Given the description of an element on the screen output the (x, y) to click on. 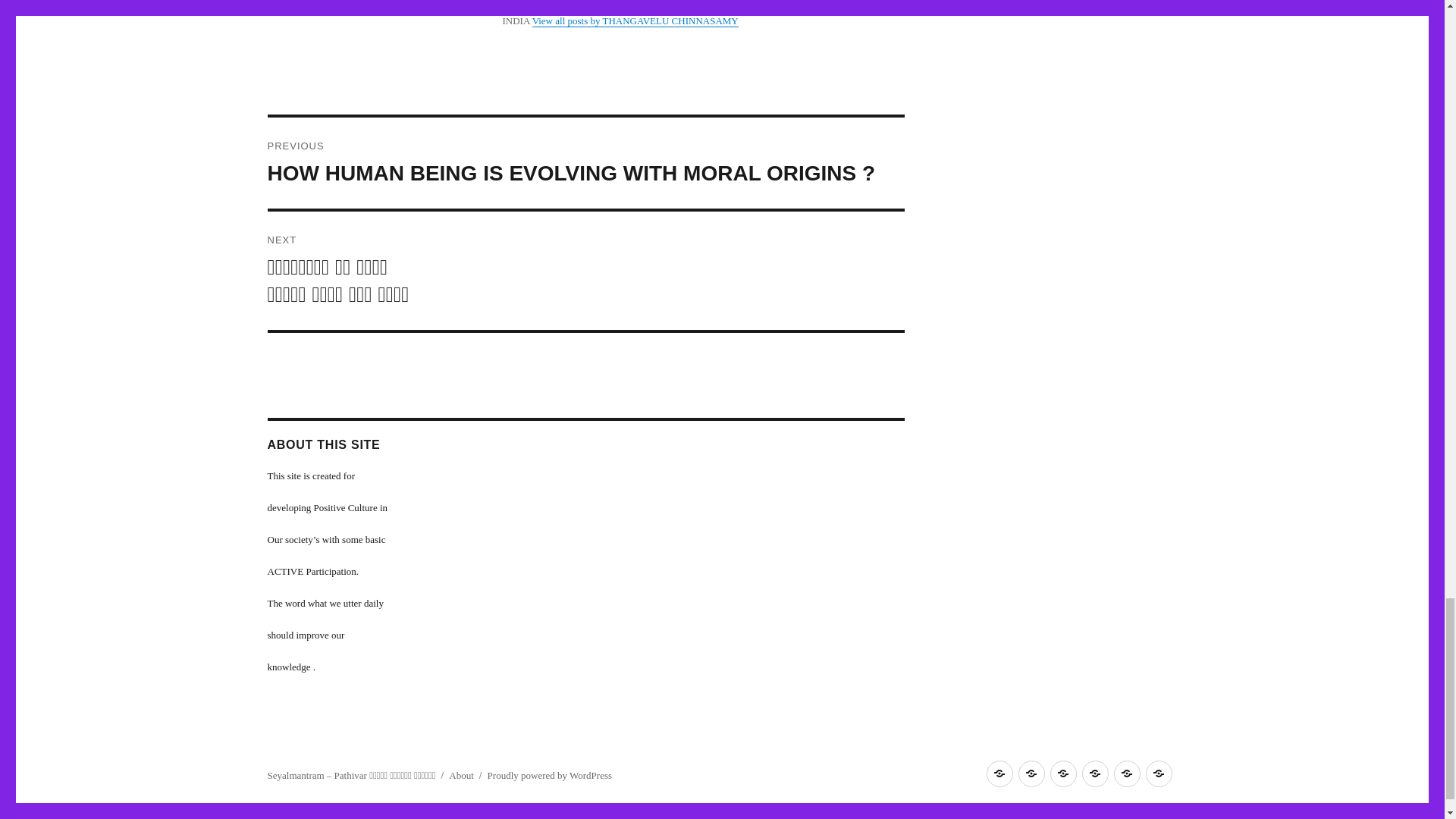
Today Post (998, 773)
View all posts by THANGAVELU CHINNASAMY (635, 20)
Favourites (1030, 773)
